Given the description of an element on the screen output the (x, y) to click on. 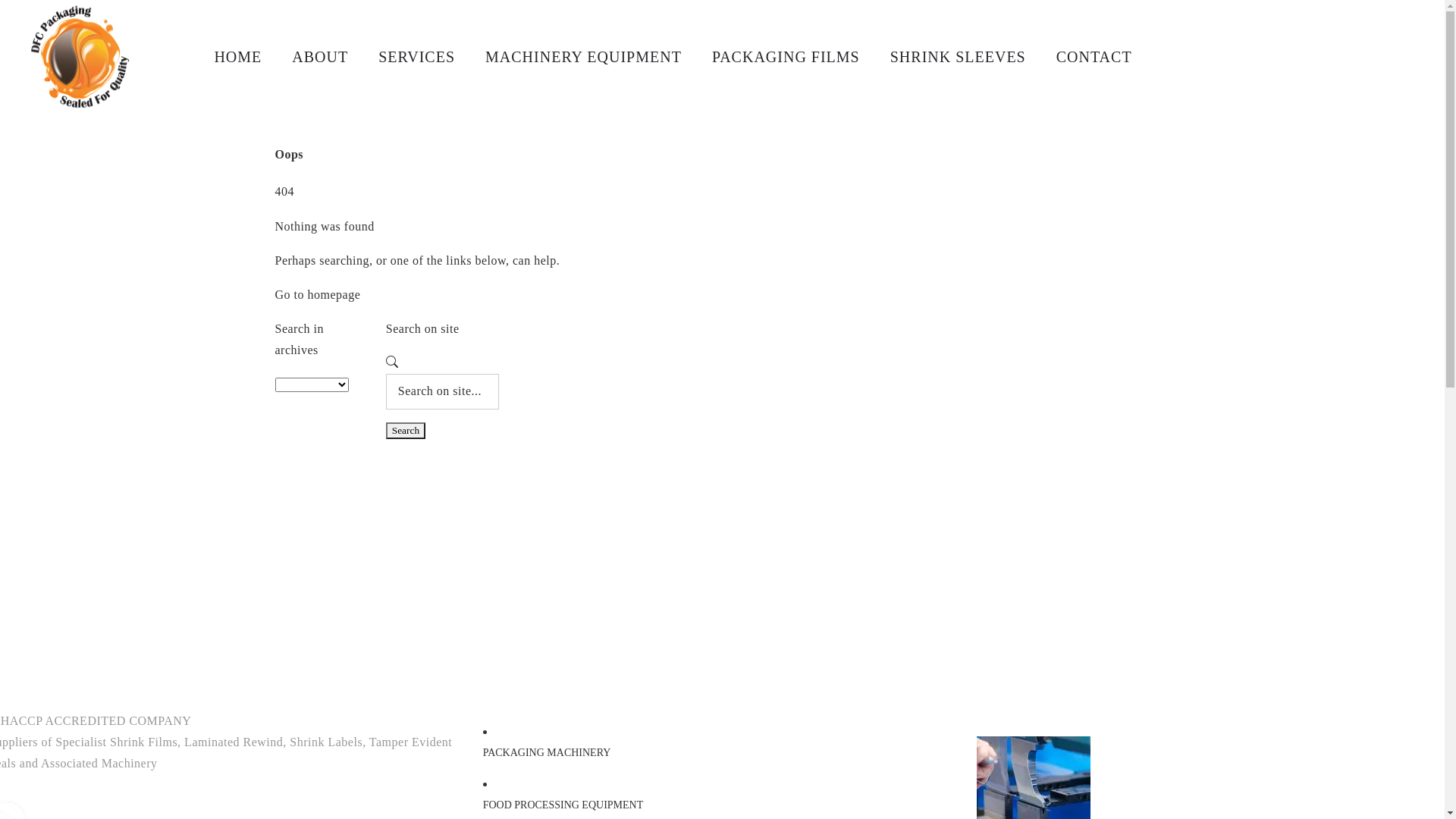
ABOUT Element type: text (319, 56)
FOOD PROCESSING EQUIPMENT Element type: text (563, 804)
SHRINK SLEEVES Element type: text (958, 56)
Search Element type: text (405, 430)
PACKAGING FILMS Element type: text (785, 56)
Home Element type: text (695, 63)
CONTACT Element type: text (1094, 56)
Go to homepage Element type: text (317, 294)
SERVICES Element type: text (416, 56)
PACKAGING MACHINERY Element type: text (547, 752)
MACHINERY EQUIPMENT Element type: text (583, 56)
HOME Element type: text (237, 56)
